Given the description of an element on the screen output the (x, y) to click on. 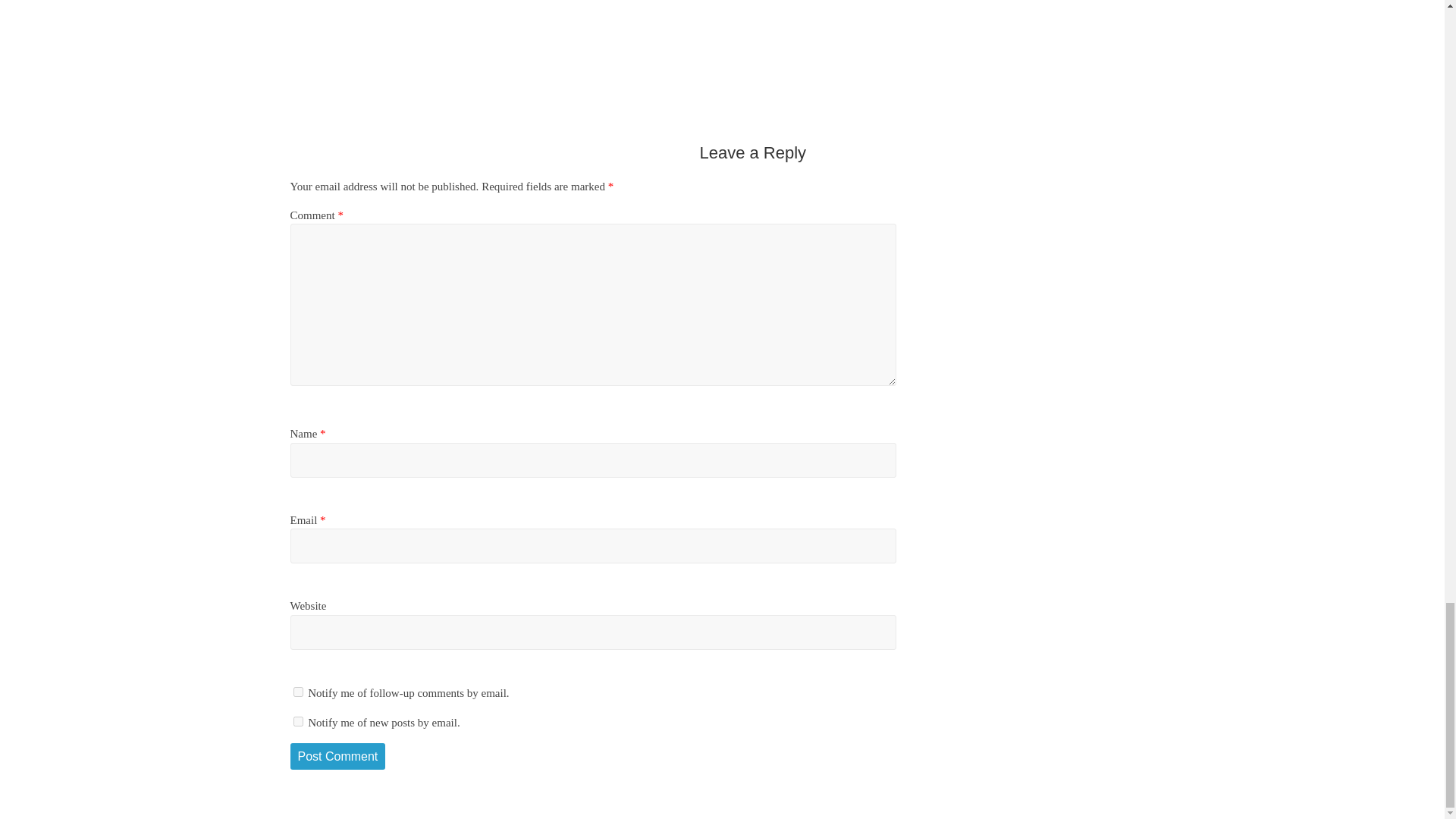
subscribe (297, 721)
subscribe (297, 691)
Post Comment (337, 756)
